Given the description of an element on the screen output the (x, y) to click on. 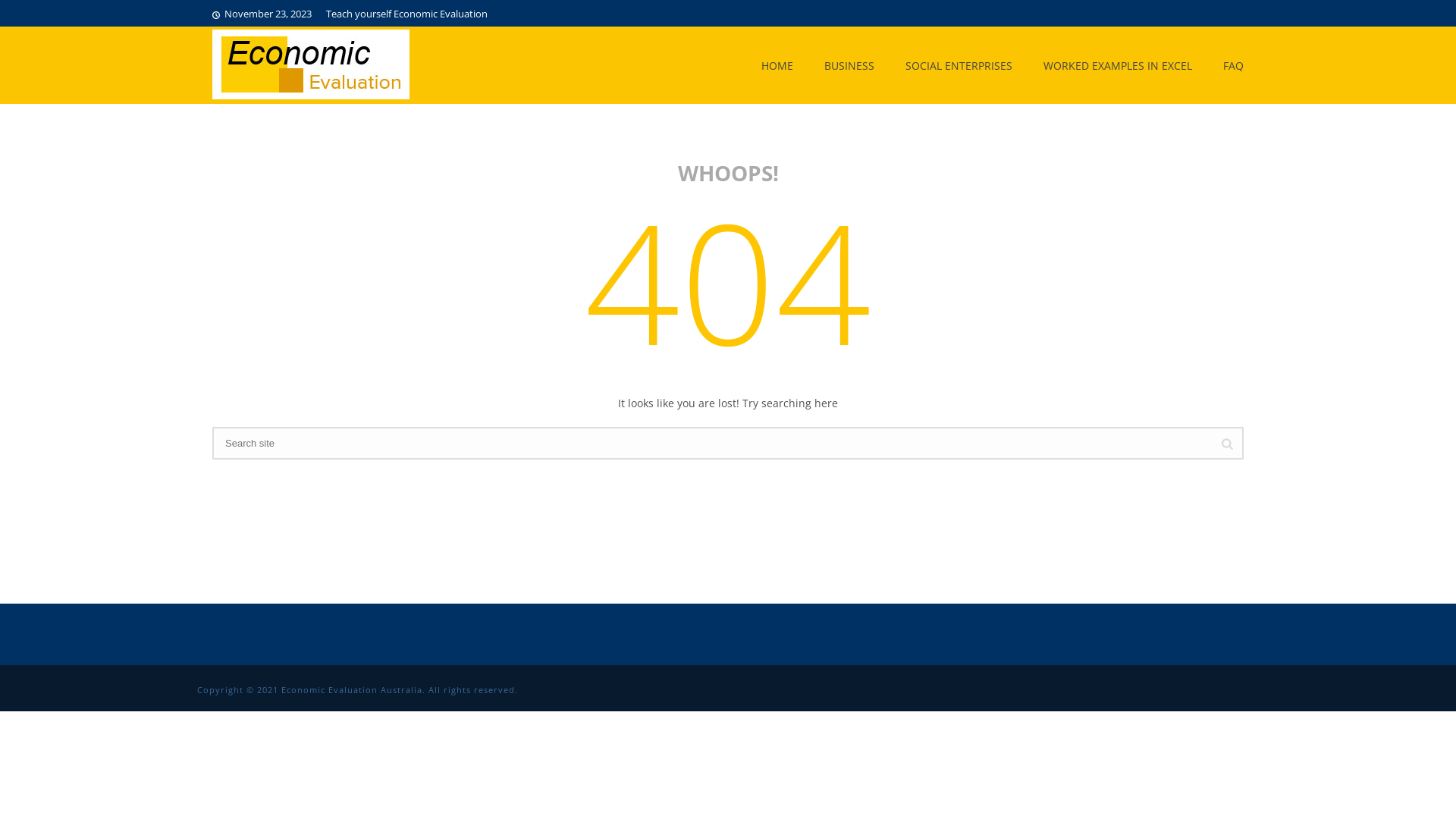
WORKED EXAMPLES IN EXCEL Element type: text (1117, 64)
SOCIAL ENTERPRISES Element type: text (958, 64)
BUSINESS Element type: text (849, 64)
Teach yourself economic evaluation & Financial Modelling Element type: hover (310, 64)
HOME Element type: text (777, 64)
FAQ Element type: text (1233, 64)
